Given the description of an element on the screen output the (x, y) to click on. 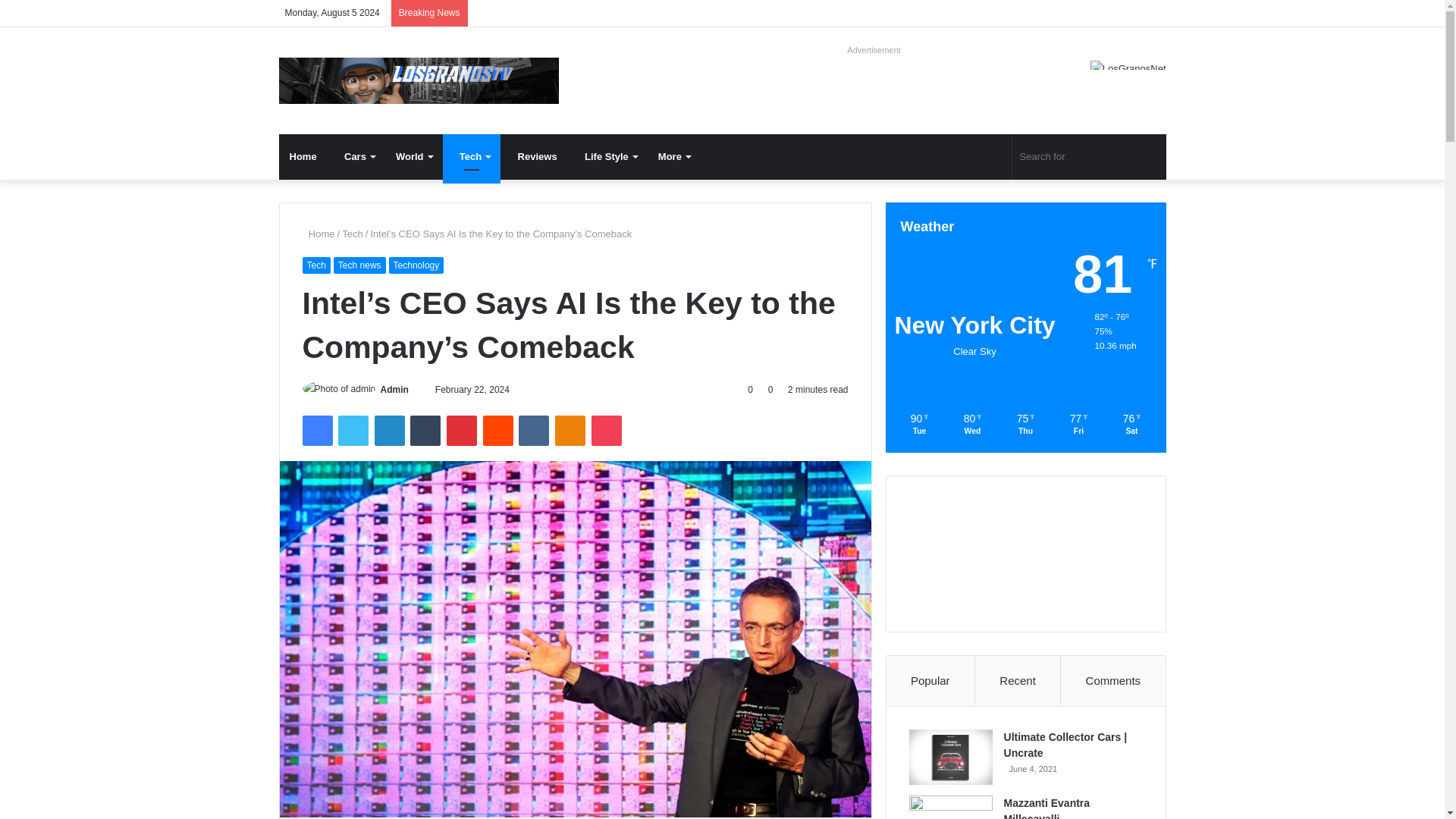
Facebook (316, 430)
Home (303, 156)
Admin (394, 389)
Odnoklassniki (569, 430)
Twitter (352, 430)
Search for (1088, 156)
Cars (356, 156)
Tumblr (425, 430)
Tech (471, 156)
World (413, 156)
LinkedIn (389, 430)
Reddit (498, 430)
VKontakte (533, 430)
Pinterest (461, 430)
Los Granos (419, 80)
